Given the description of an element on the screen output the (x, y) to click on. 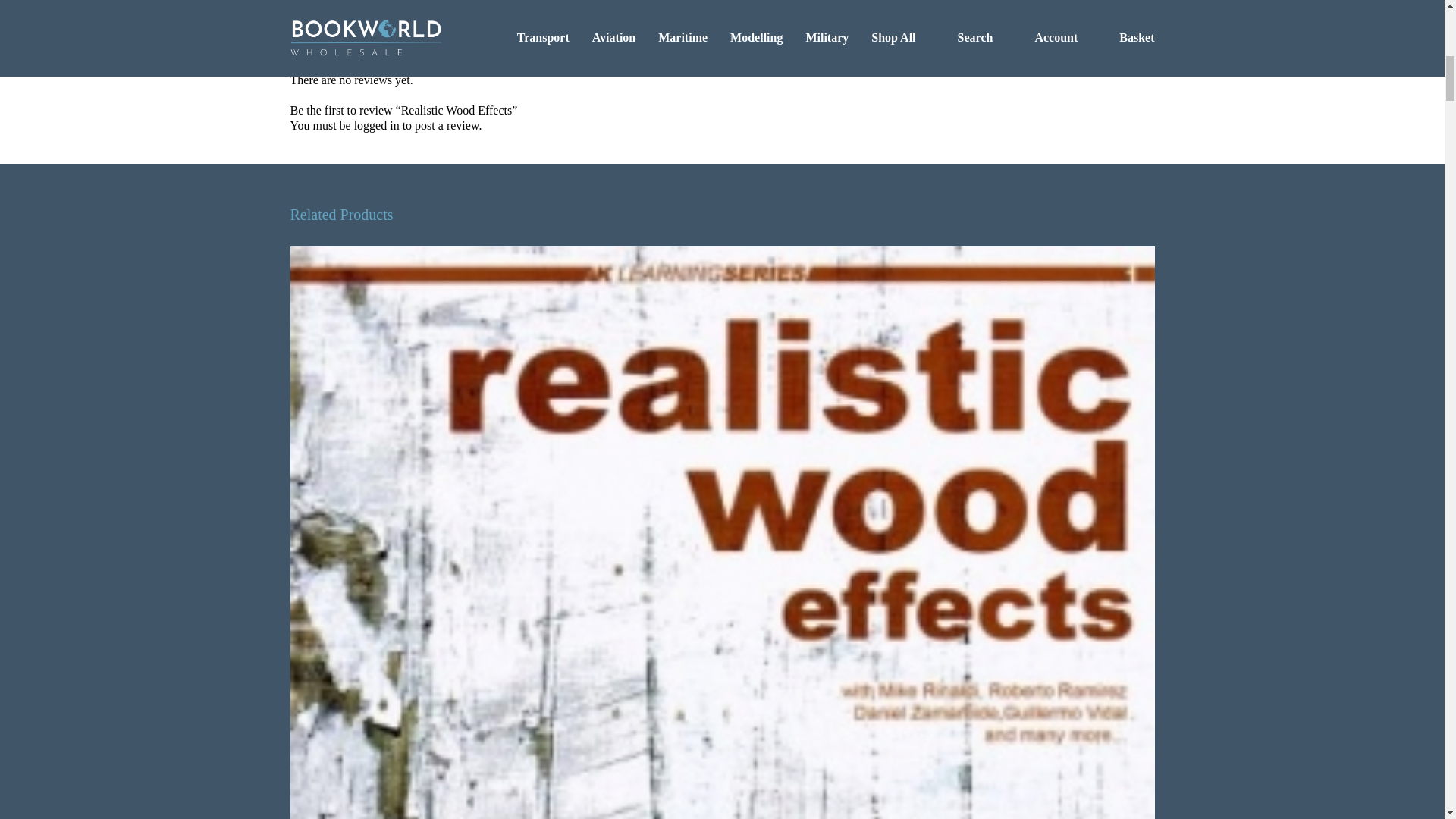
logged in (375, 125)
